Given the description of an element on the screen output the (x, y) to click on. 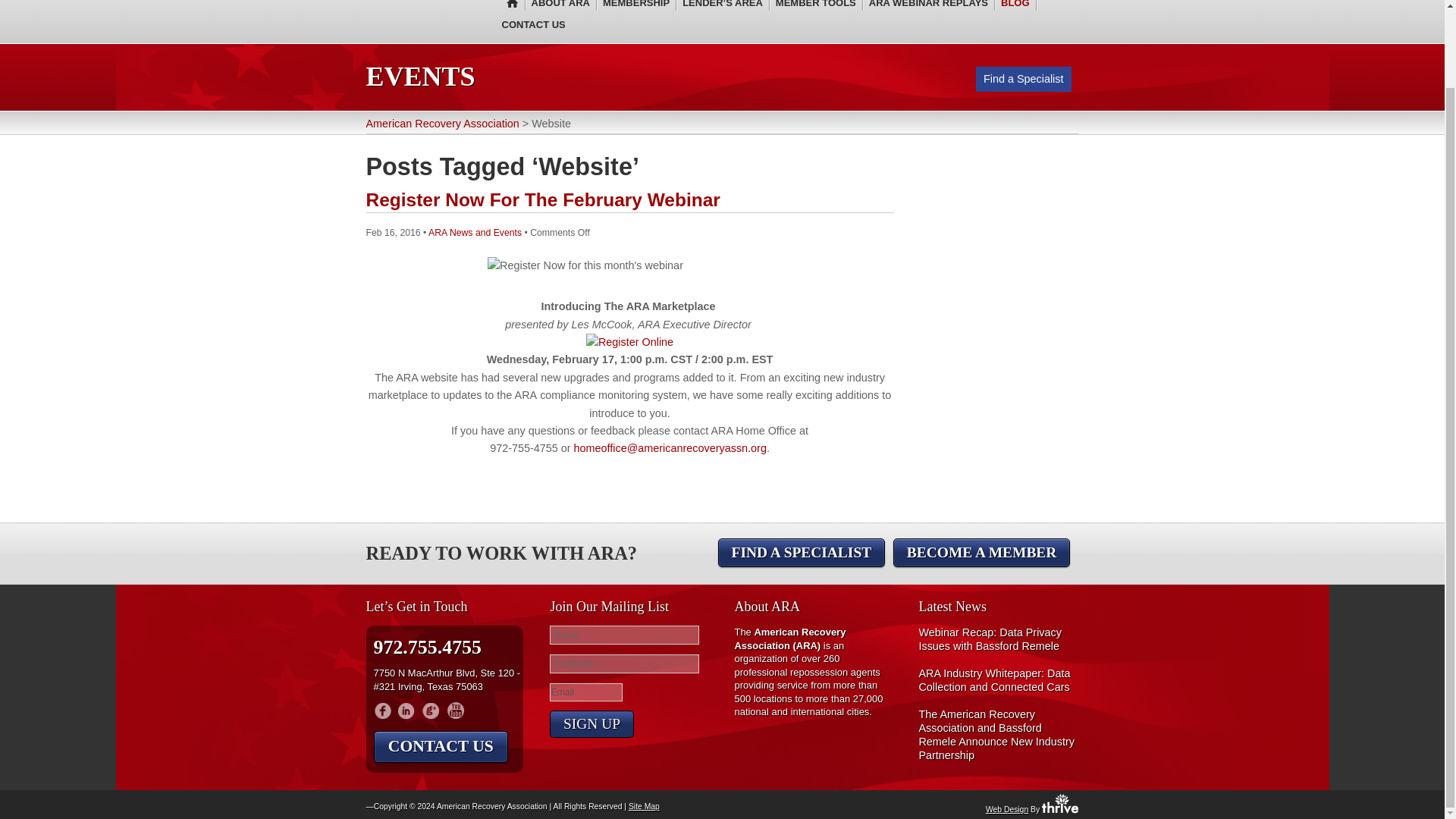
Sign Up (591, 723)
Space Available (629, 342)
Name (624, 634)
HOME (510, 6)
ABOUT ARA (559, 6)
MEMBER TOOLS (816, 6)
Go to American Recovery Association. (441, 123)
Email (586, 692)
Company (624, 663)
MEMBERSHIP (635, 6)
